Given the description of an element on the screen output the (x, y) to click on. 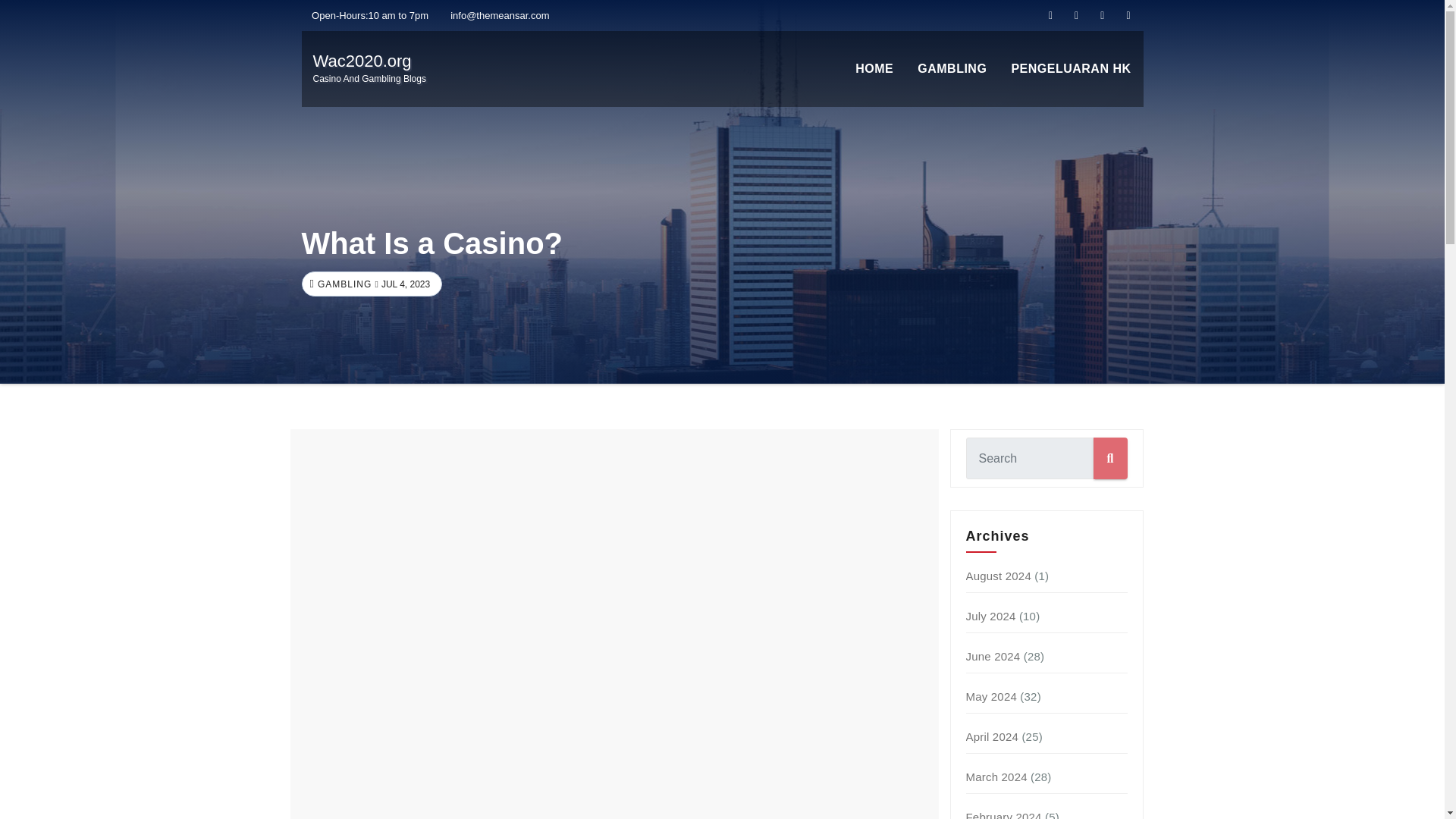
GAMBLING (342, 284)
August 2024 (998, 575)
July 2024 (991, 615)
May 2024 (991, 696)
Pengeluaran HK (1070, 69)
GAMBLING (951, 69)
Gambling (951, 69)
June 2024 (993, 656)
PENGELUARAN HK (1070, 69)
HOME (369, 68)
April 2024 (874, 69)
March 2024 (992, 736)
Home (996, 776)
February 2024 (874, 69)
